Given the description of an element on the screen output the (x, y) to click on. 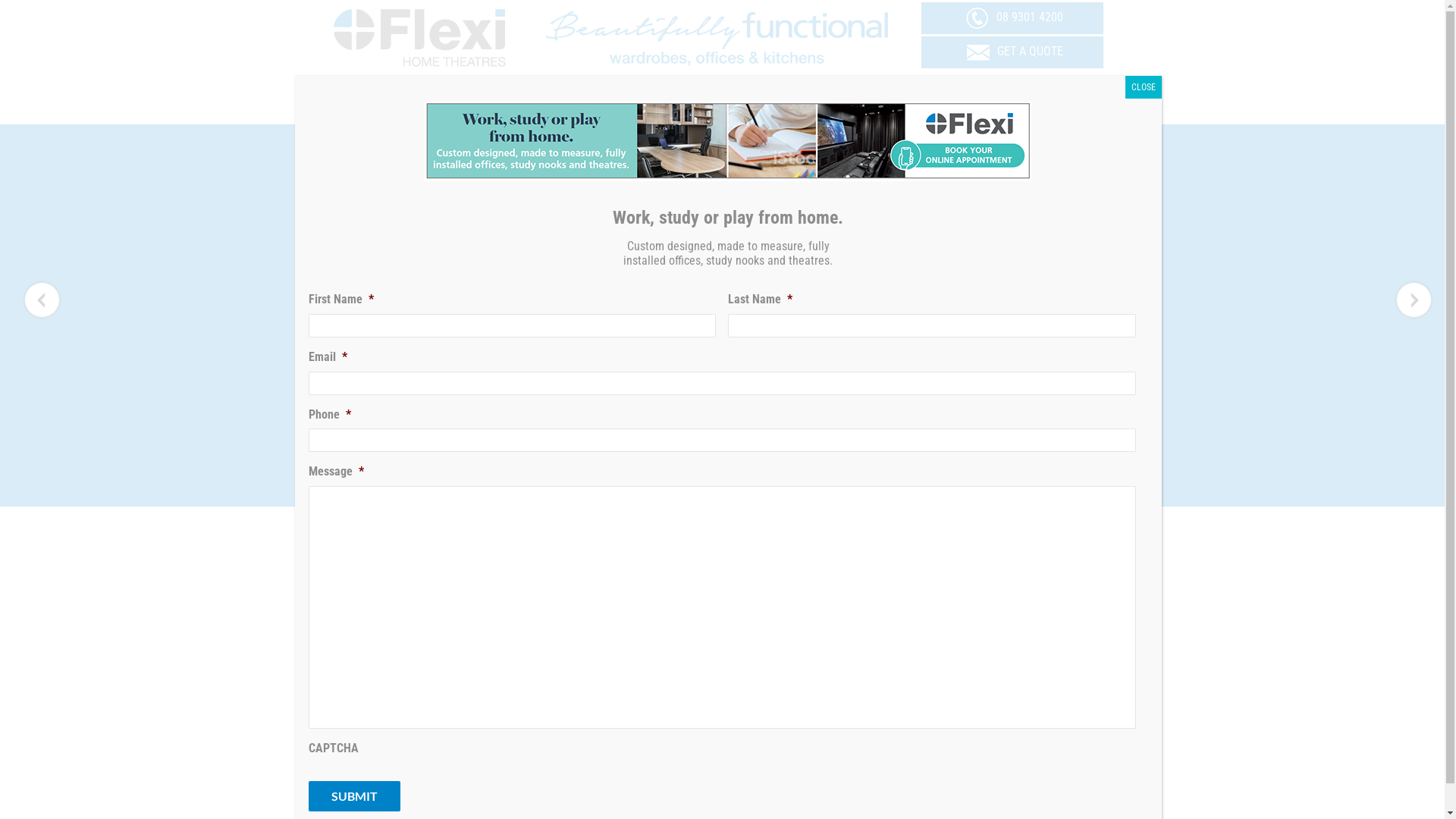
08 9301 4200 Element type: text (1012, 16)
Submit Element type: text (353, 796)
SEE OUR REVIEWS Element type: text (420, 101)
CONTACT Element type: text (890, 488)
SEE OUR WARDROBES Element type: text (618, 101)
BLOG Element type: text (831, 488)
GET A QUOTE Element type: text (1012, 51)
SEE OUR KITCHENS Element type: text (1012, 101)
ABOUT US Element type: text (586, 488)
CLOSE Element type: text (1143, 86)
VIDEOS Element type: text (779, 488)
SEE OUR HOME OFFICES Element type: text (815, 101)
HOME Element type: text (524, 488)
OUR HOME THEATRES Element type: text (686, 488)
